Given the description of an element on the screen output the (x, y) to click on. 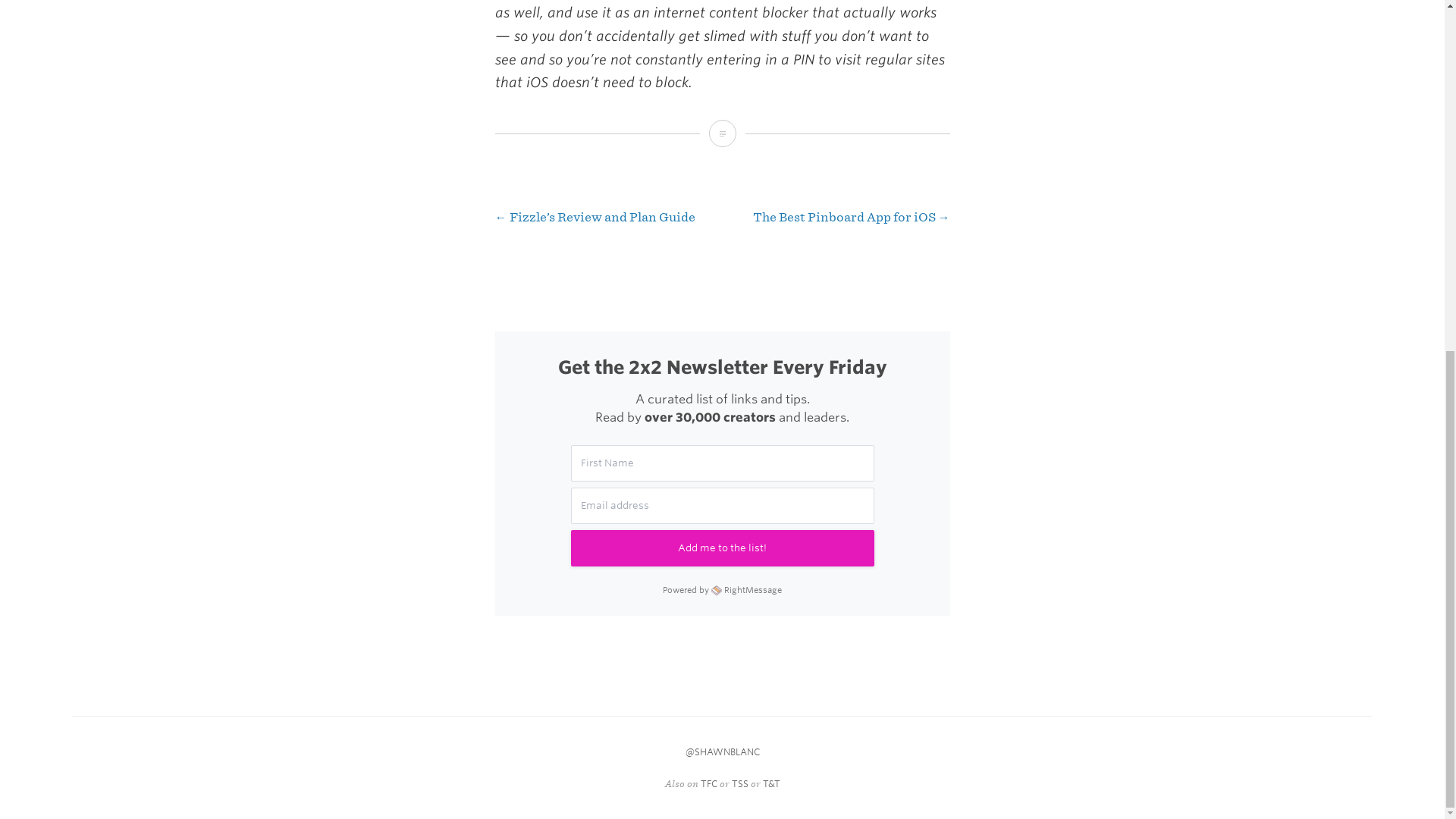
TSS (739, 783)
Add me to the list! (721, 547)
TFC (708, 783)
Powered byRightMessage (722, 588)
Please enter your email address (721, 505)
